Given the description of an element on the screen output the (x, y) to click on. 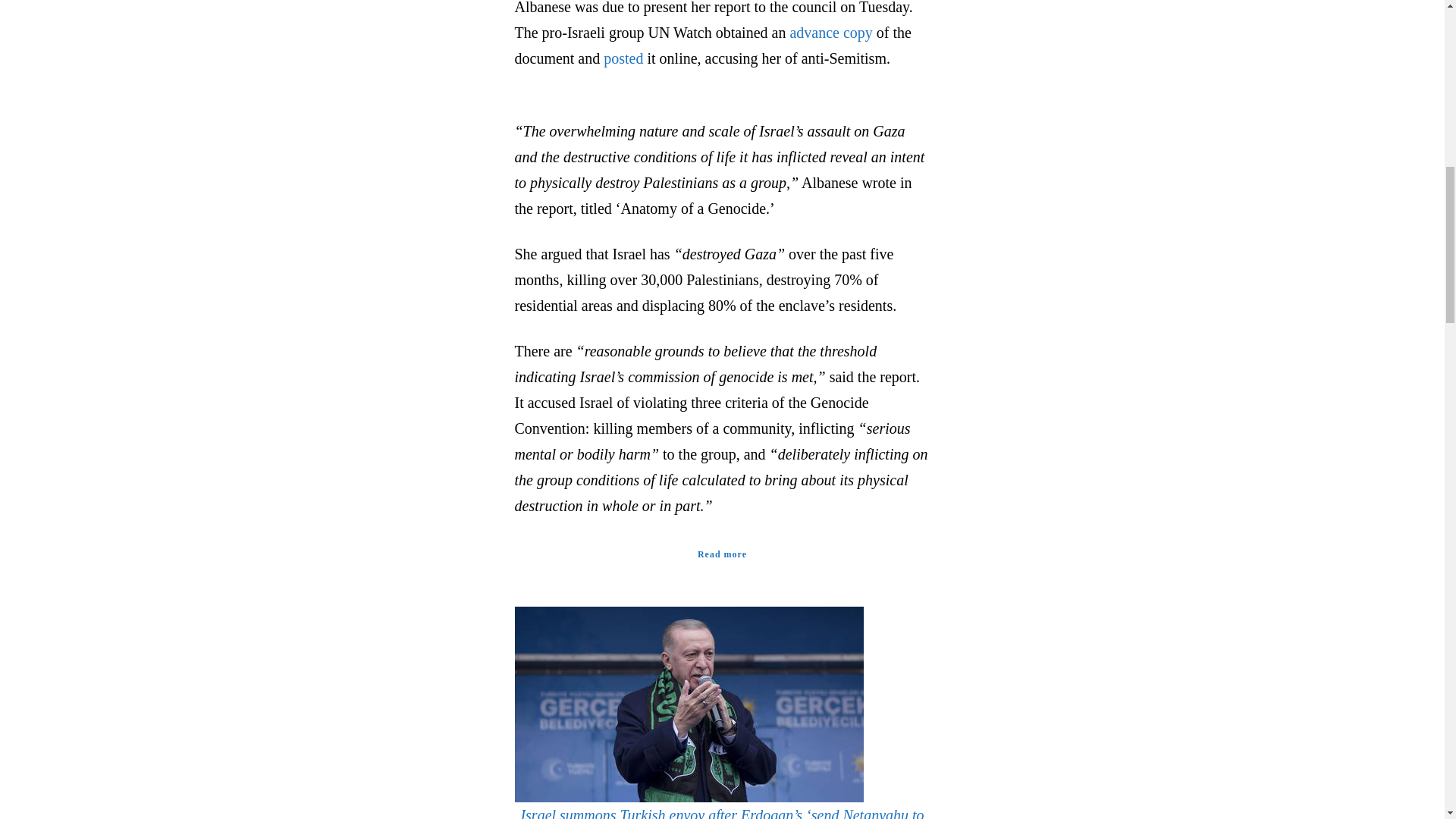
Advertisement (382, 47)
Advertisement (1061, 47)
